Given the description of an element on the screen output the (x, y) to click on. 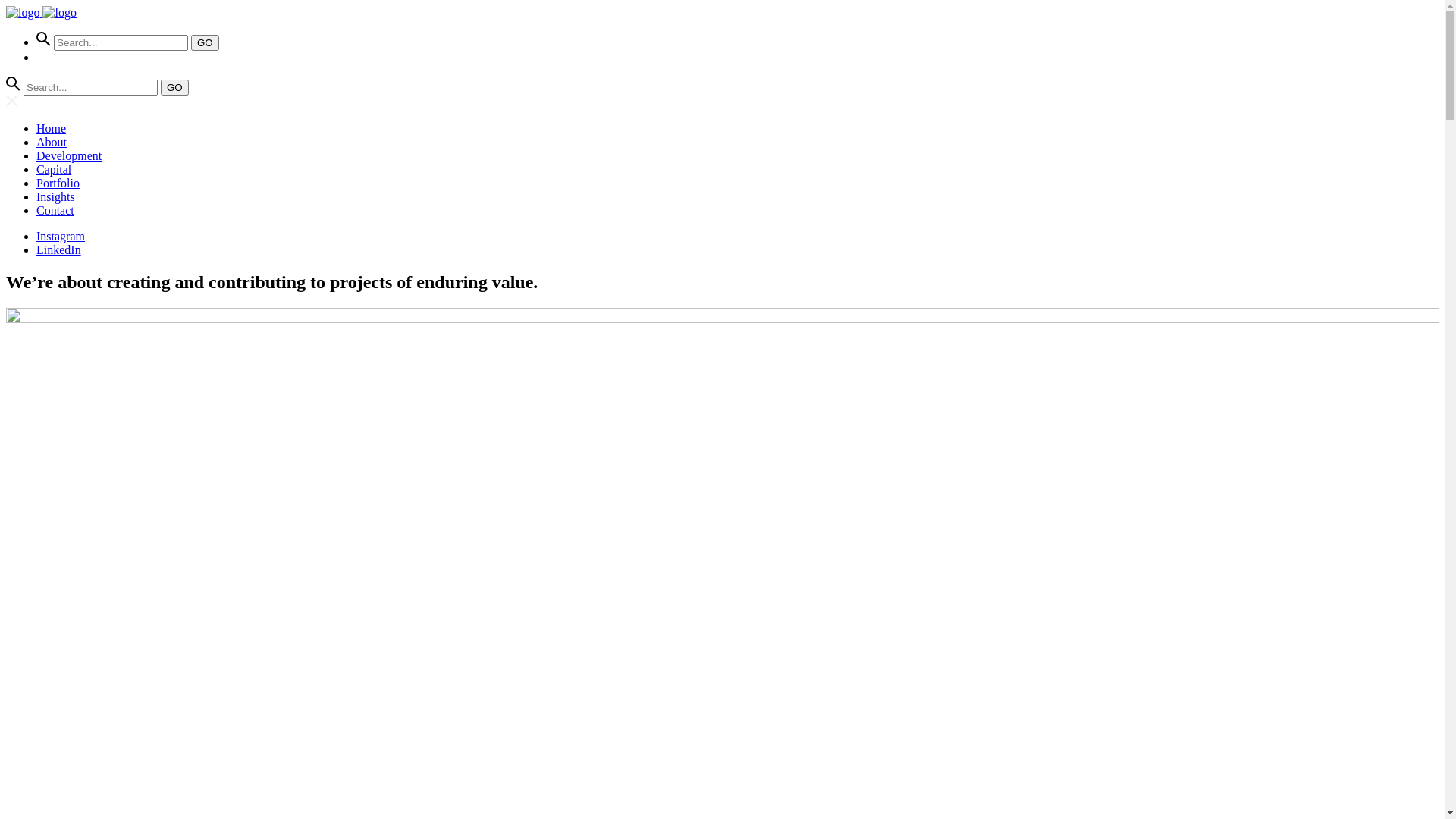
Insights Element type: text (55, 196)
Instagram Element type: text (60, 235)
GO Element type: text (205, 42)
Home Element type: text (50, 128)
Skip to content Element type: text (6, 6)
Development Element type: text (68, 155)
LinkedIn Element type: text (58, 249)
About Element type: text (51, 141)
Contact Element type: text (55, 209)
Capital Element type: text (53, 169)
GO Element type: text (174, 87)
Portfolio Element type: text (57, 182)
